Given the description of an element on the screen output the (x, y) to click on. 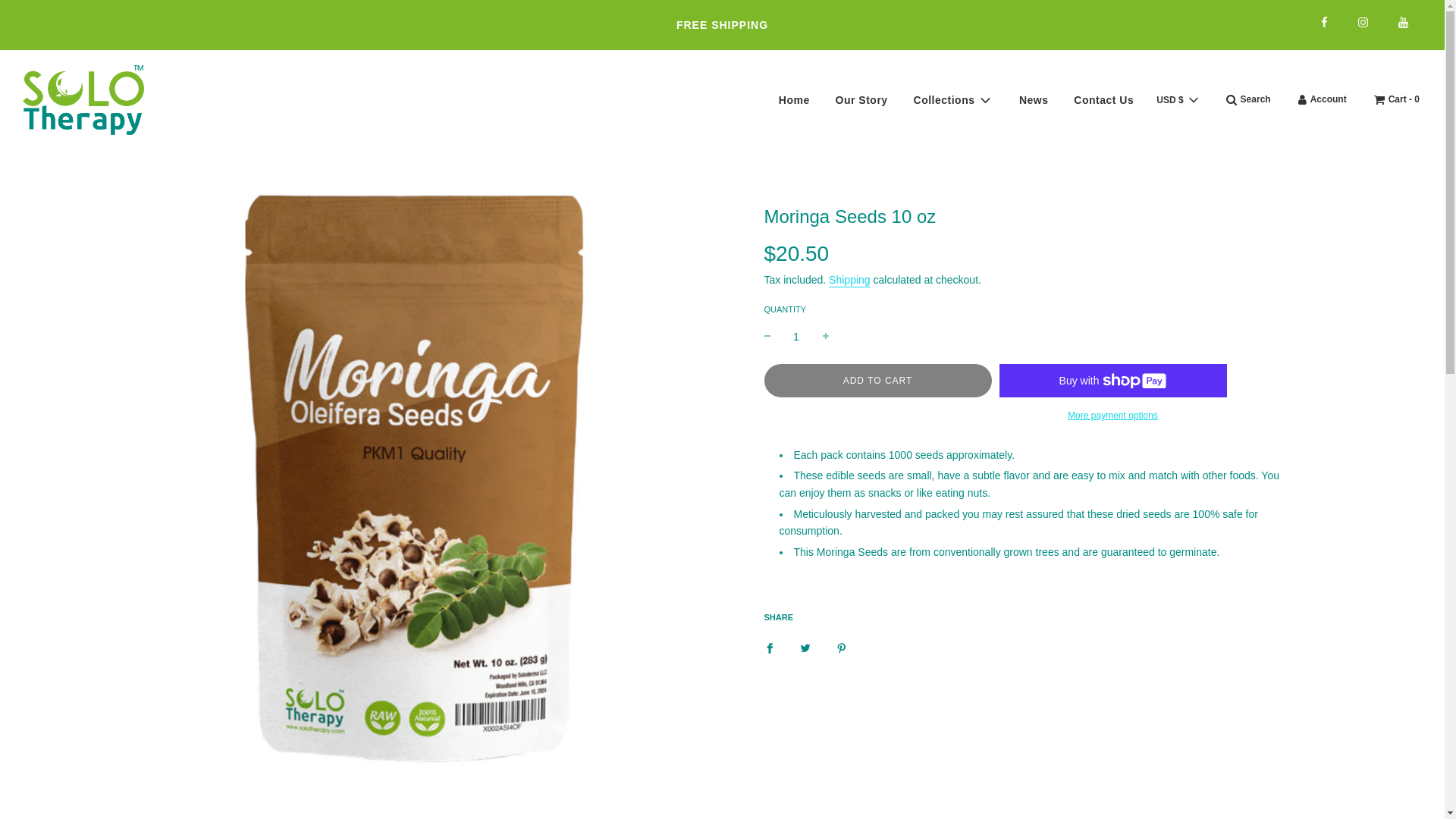
Log in (1321, 99)
FREE SHIPPING (722, 24)
Productos (722, 24)
1 (796, 336)
